Given the description of an element on the screen output the (x, y) to click on. 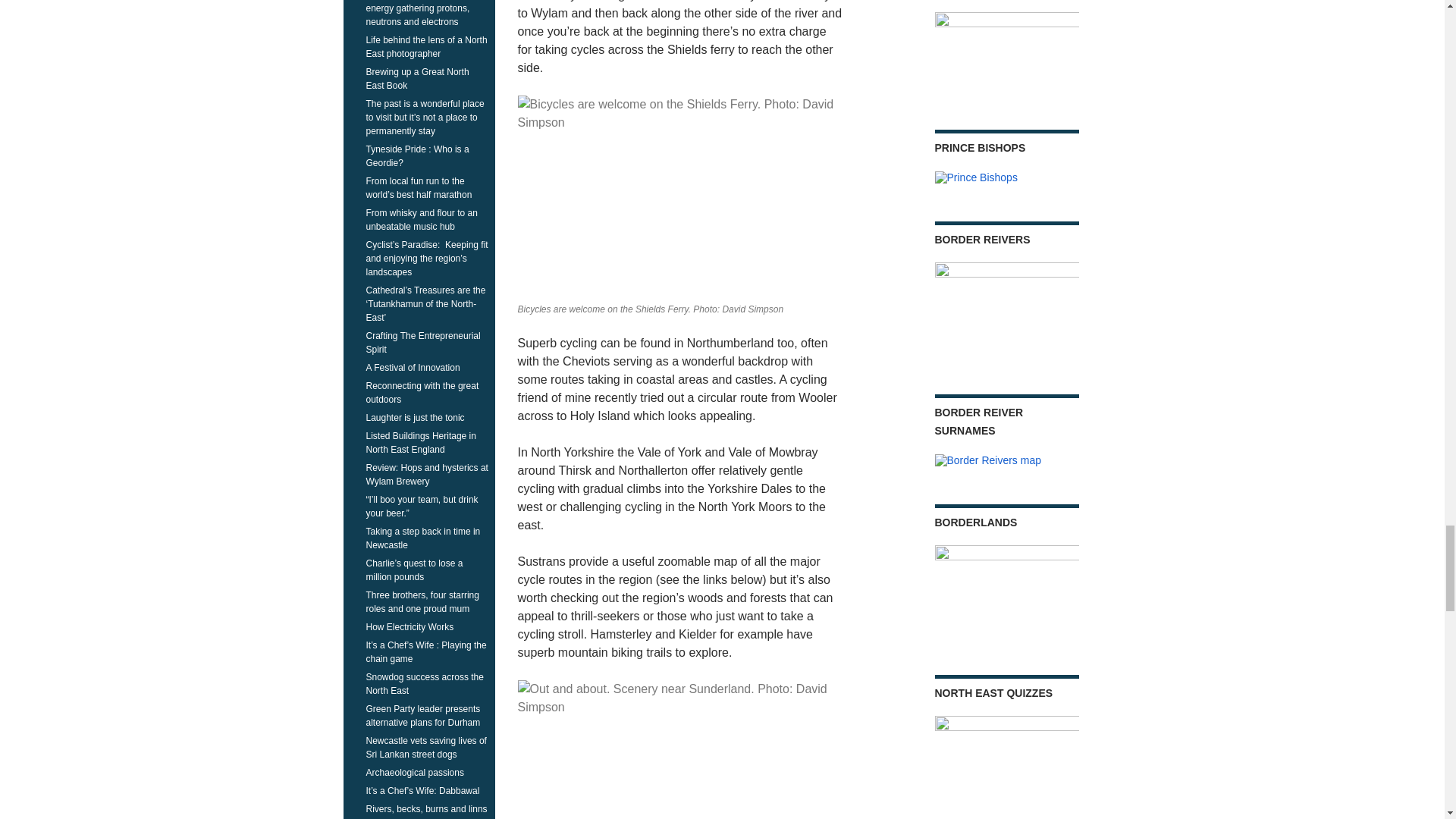
Border Reiver Surnames Map (987, 460)
Prince Bishops (975, 178)
